Given the description of an element on the screen output the (x, y) to click on. 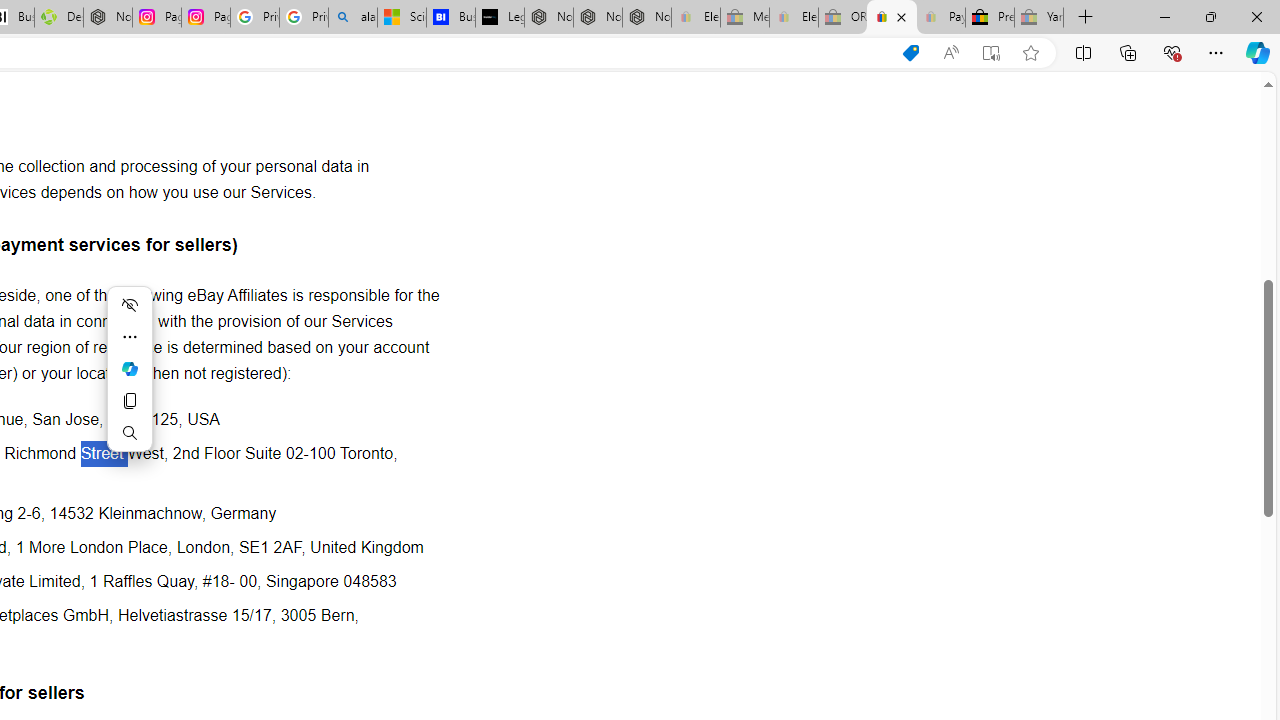
Hide menu (129, 304)
